Given the description of an element on the screen output the (x, y) to click on. 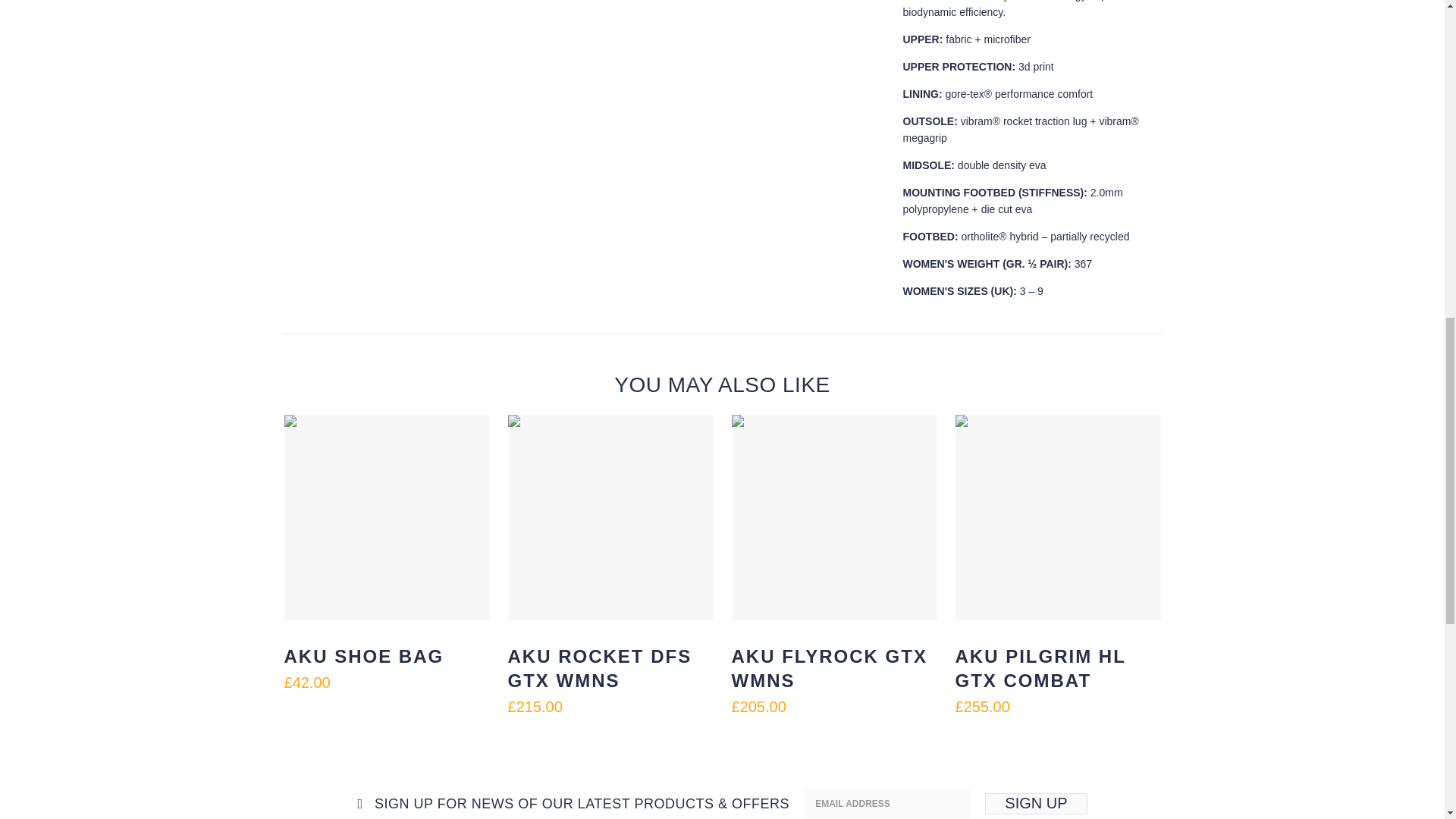
Sign Up (1035, 803)
